Given the description of an element on the screen output the (x, y) to click on. 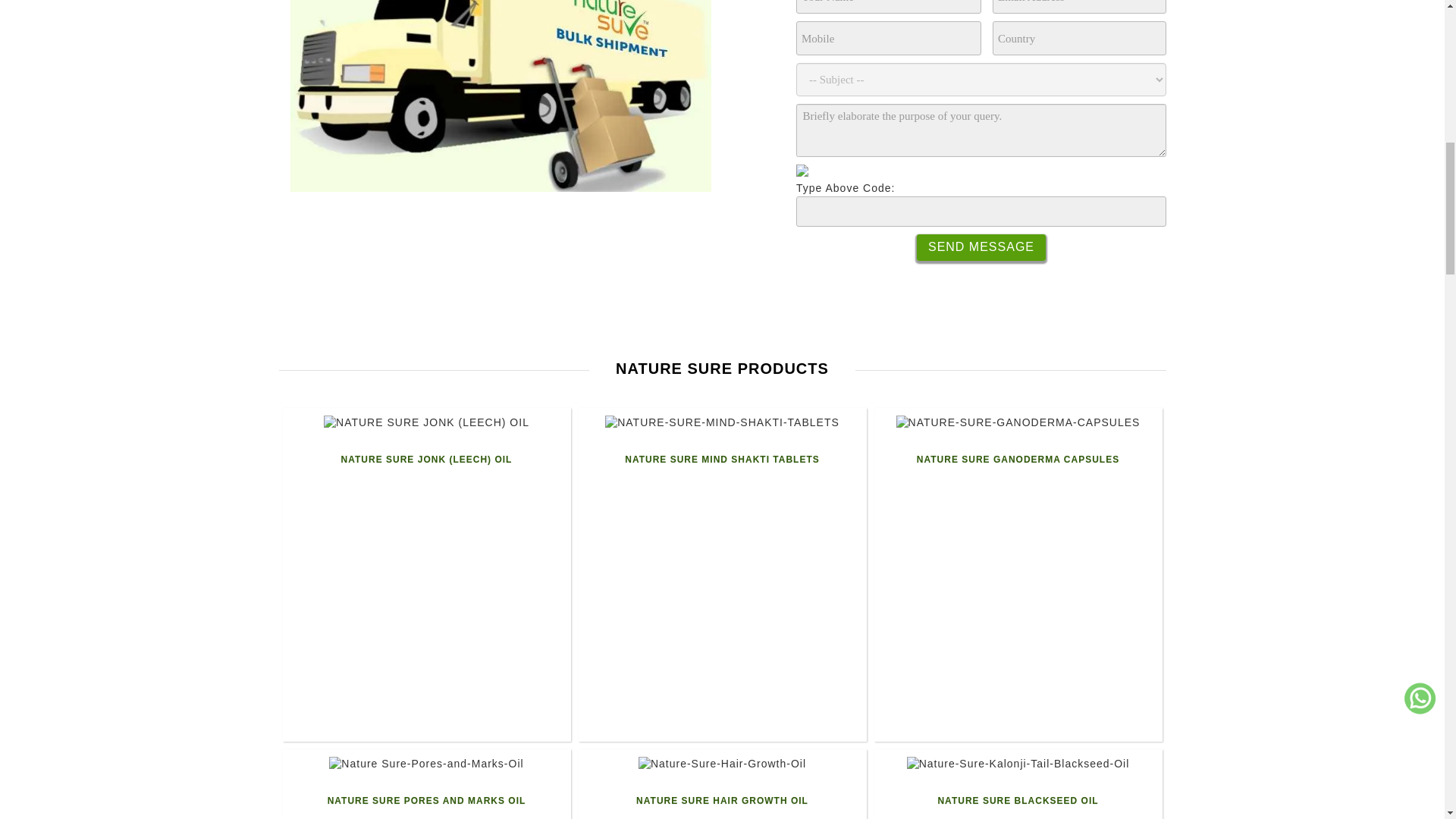
Enquiry Form (981, 145)
